Given the description of an element on the screen output the (x, y) to click on. 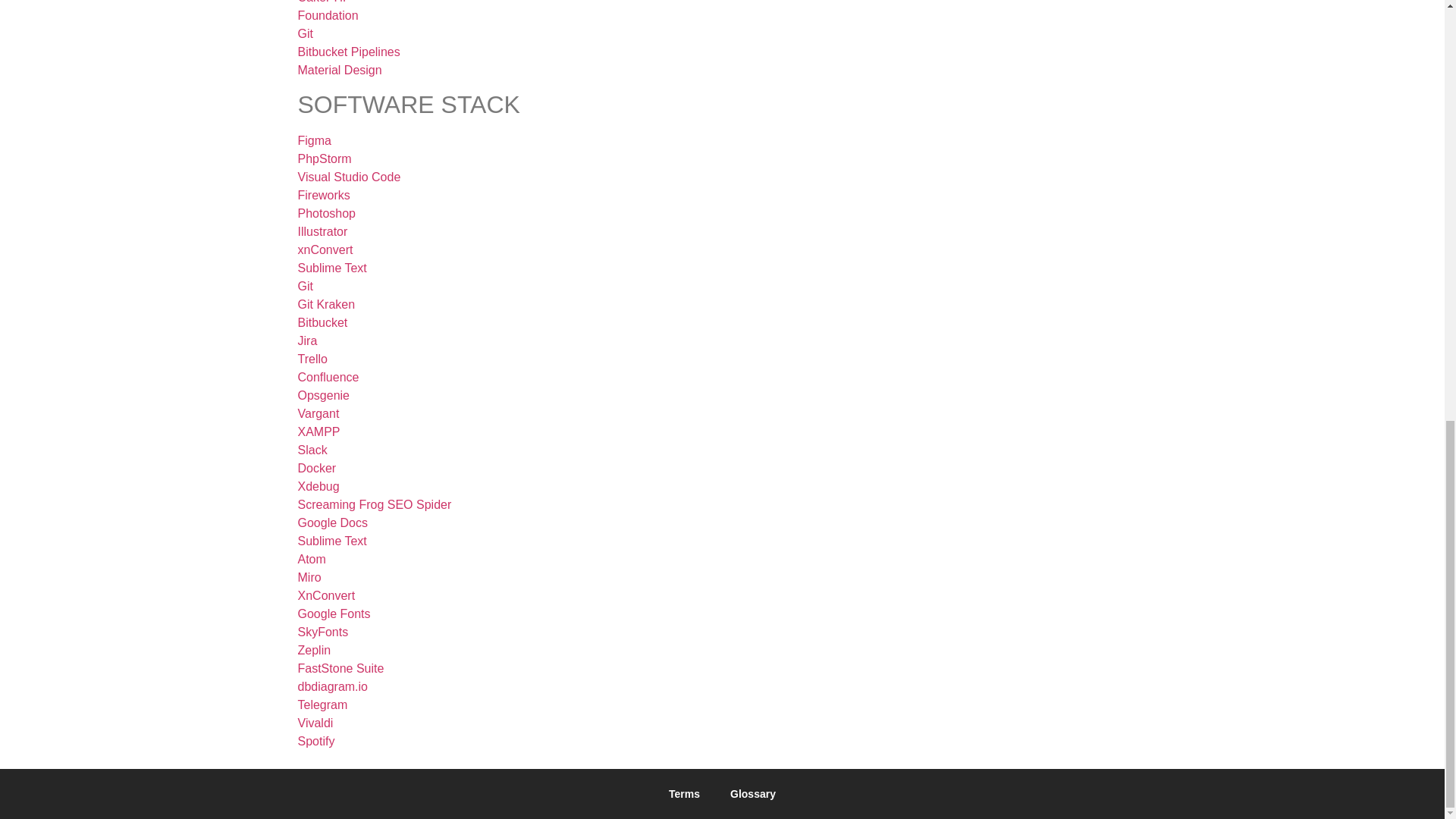
CakePHP (323, 2)
Foundation (327, 15)
Git (305, 33)
